Given the description of an element on the screen output the (x, y) to click on. 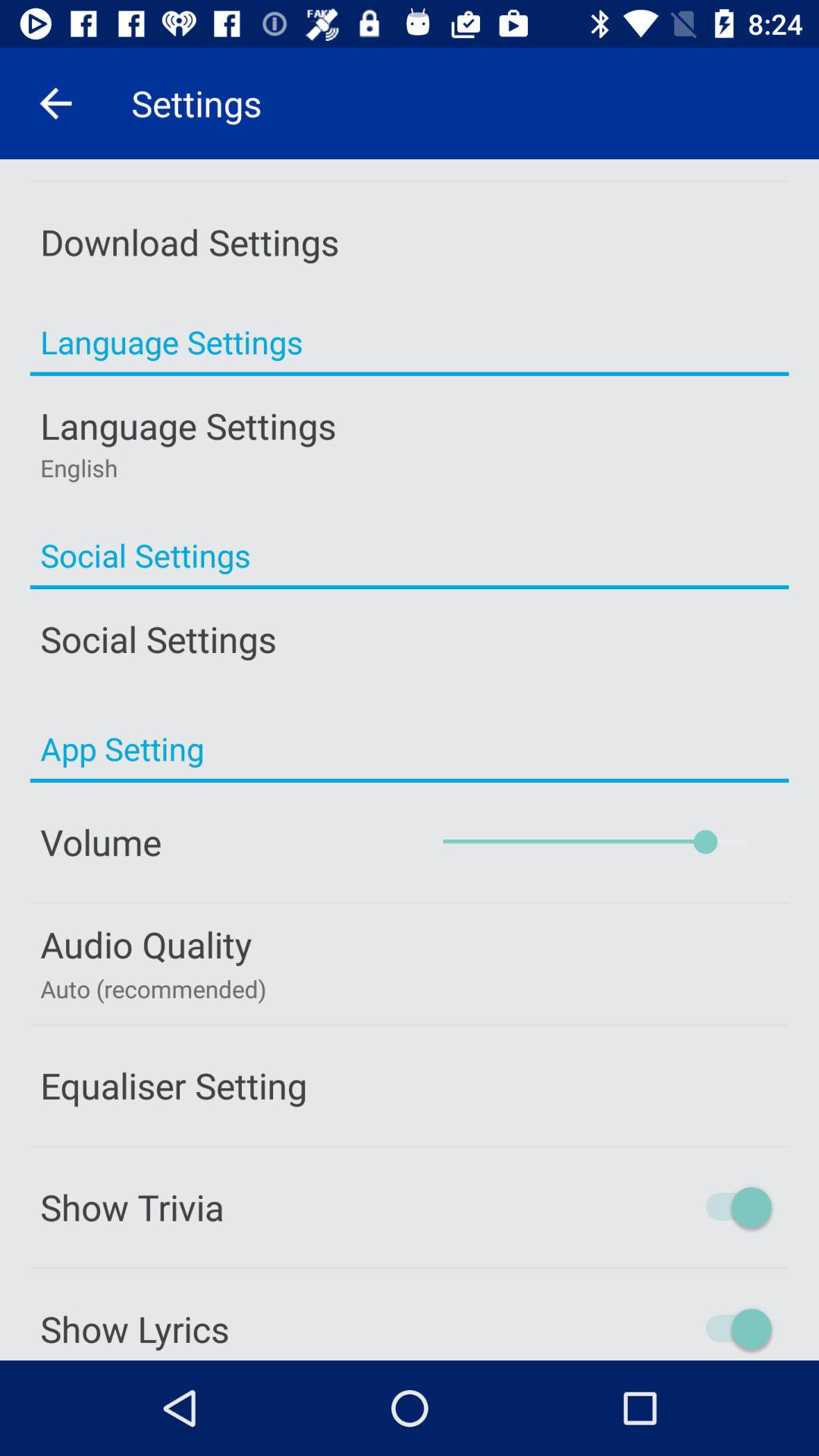
click on equaliser setting (409, 1085)
select the text which is below the english (409, 555)
click on the button below equaliser setting (409, 1207)
click on the button which is above the equaliser setting (409, 963)
